Given the description of an element on the screen output the (x, y) to click on. 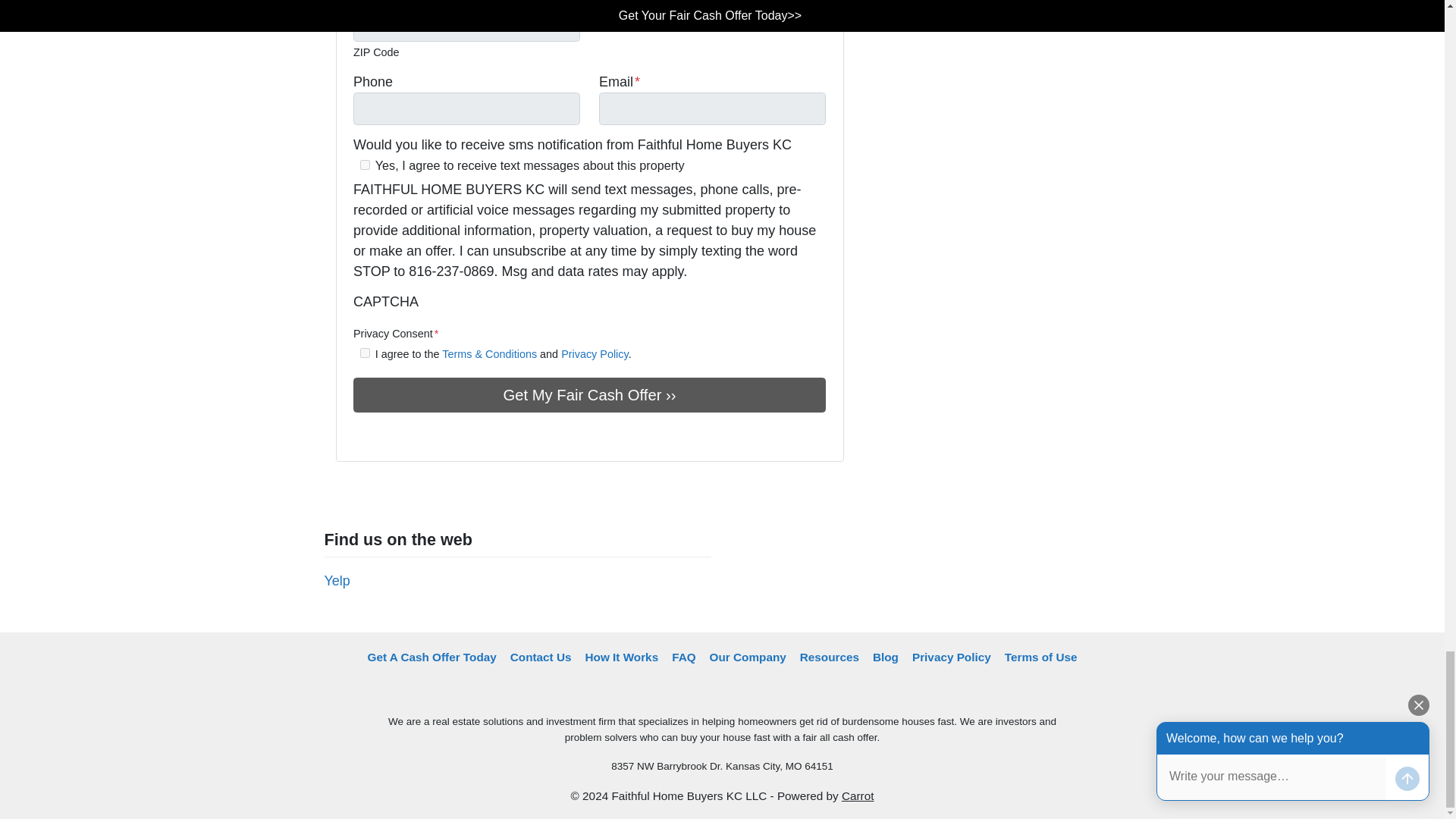
Get A Cash Offer Today (432, 657)
LinkedIn (404, 434)
Instagram (425, 434)
Contact Us (540, 657)
Yelp (337, 580)
Privacy Policy (594, 354)
Facebook (362, 434)
Yes, I agree to receive text messages about this property (364, 164)
YouTube (383, 434)
